Given the description of an element on the screen output the (x, y) to click on. 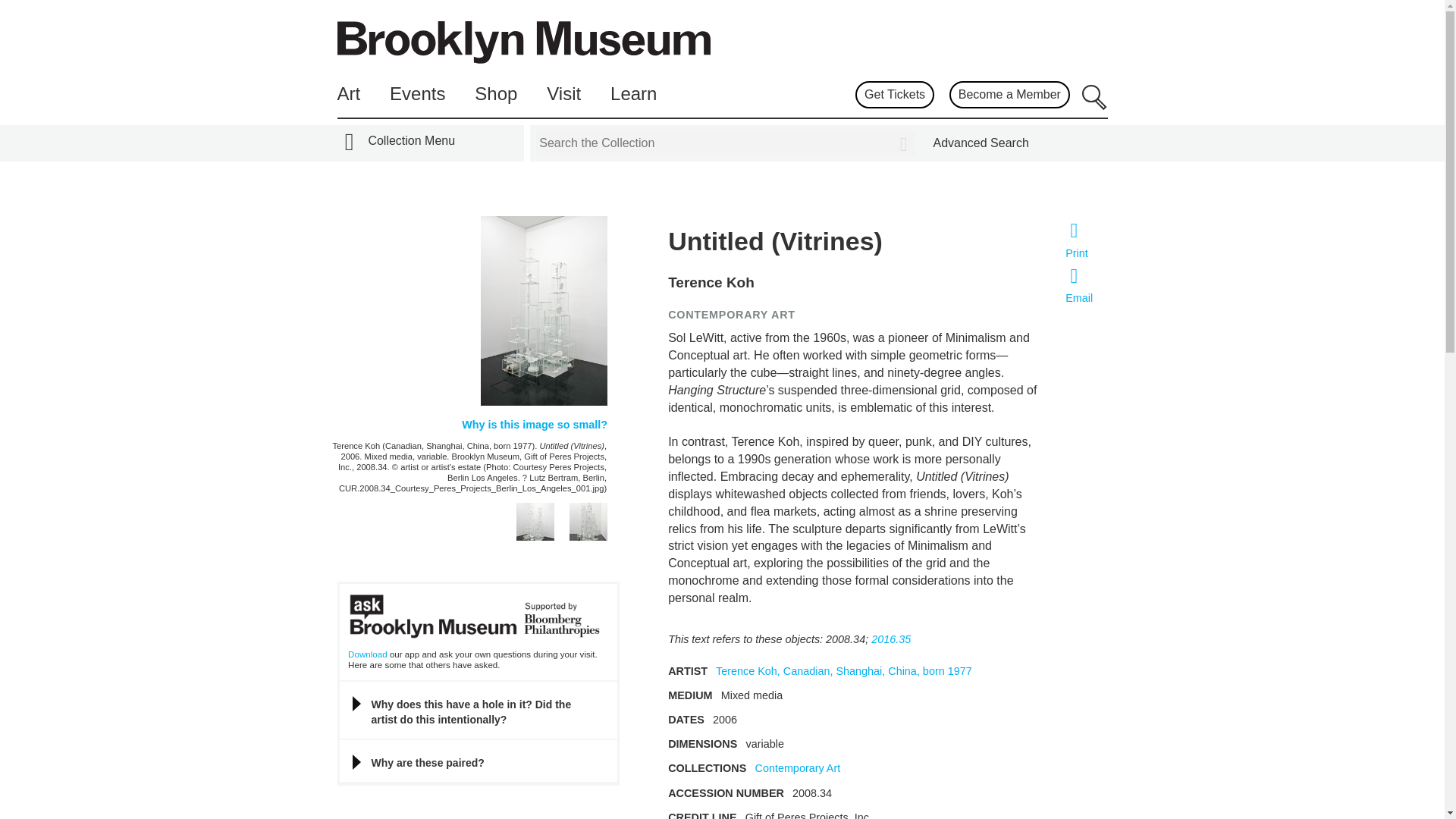
Become a Member (1008, 94)
Learn (633, 94)
Get Tickets (894, 94)
Shop (495, 94)
Art (347, 94)
Visit (563, 94)
Events (417, 94)
